Given the description of an element on the screen output the (x, y) to click on. 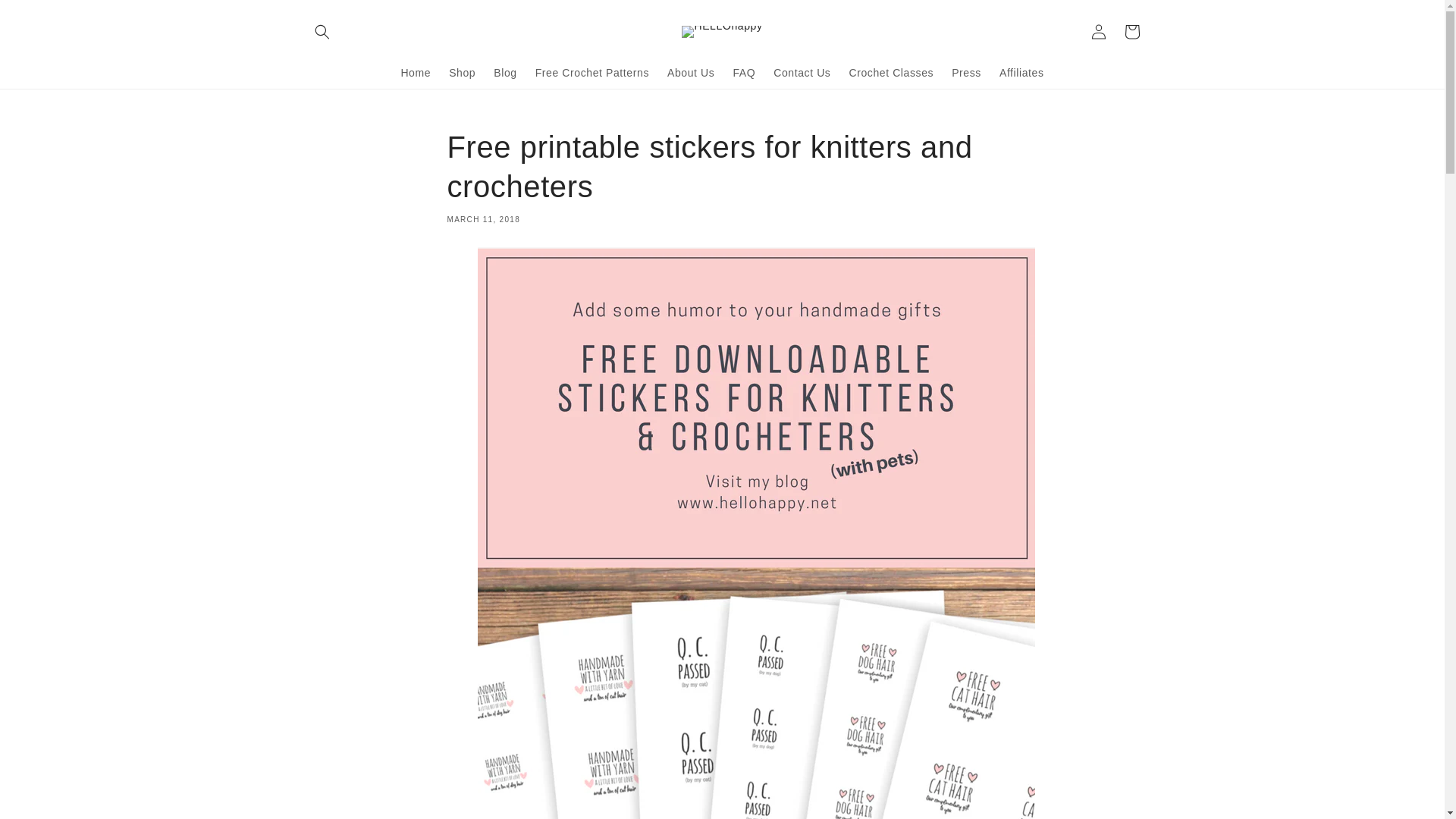
Press (966, 71)
Contact Us (802, 71)
About Us (690, 71)
Affiliates (1021, 71)
Shop (461, 71)
Blog (504, 71)
Crochet Classes (891, 71)
Skip to content (45, 17)
FAQ (743, 71)
Free Crochet Patterns (591, 71)
Home (415, 71)
Log in (1098, 31)
Cart (1131, 31)
